Given the description of an element on the screen output the (x, y) to click on. 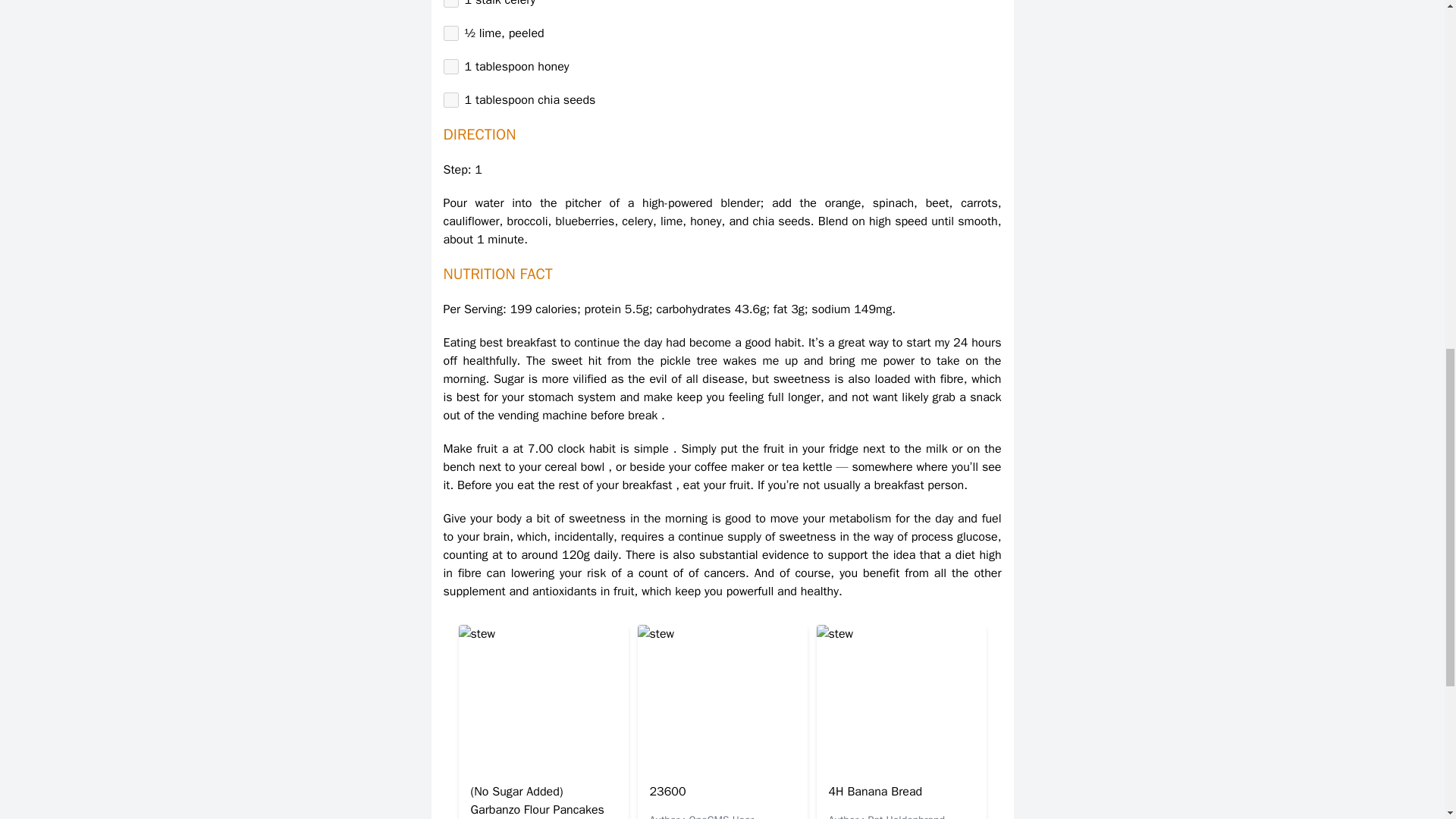
on (450, 99)
on (450, 66)
4H Banana Bread (874, 791)
23600 (667, 791)
on (450, 3)
on (450, 32)
